Given the description of an element on the screen output the (x, y) to click on. 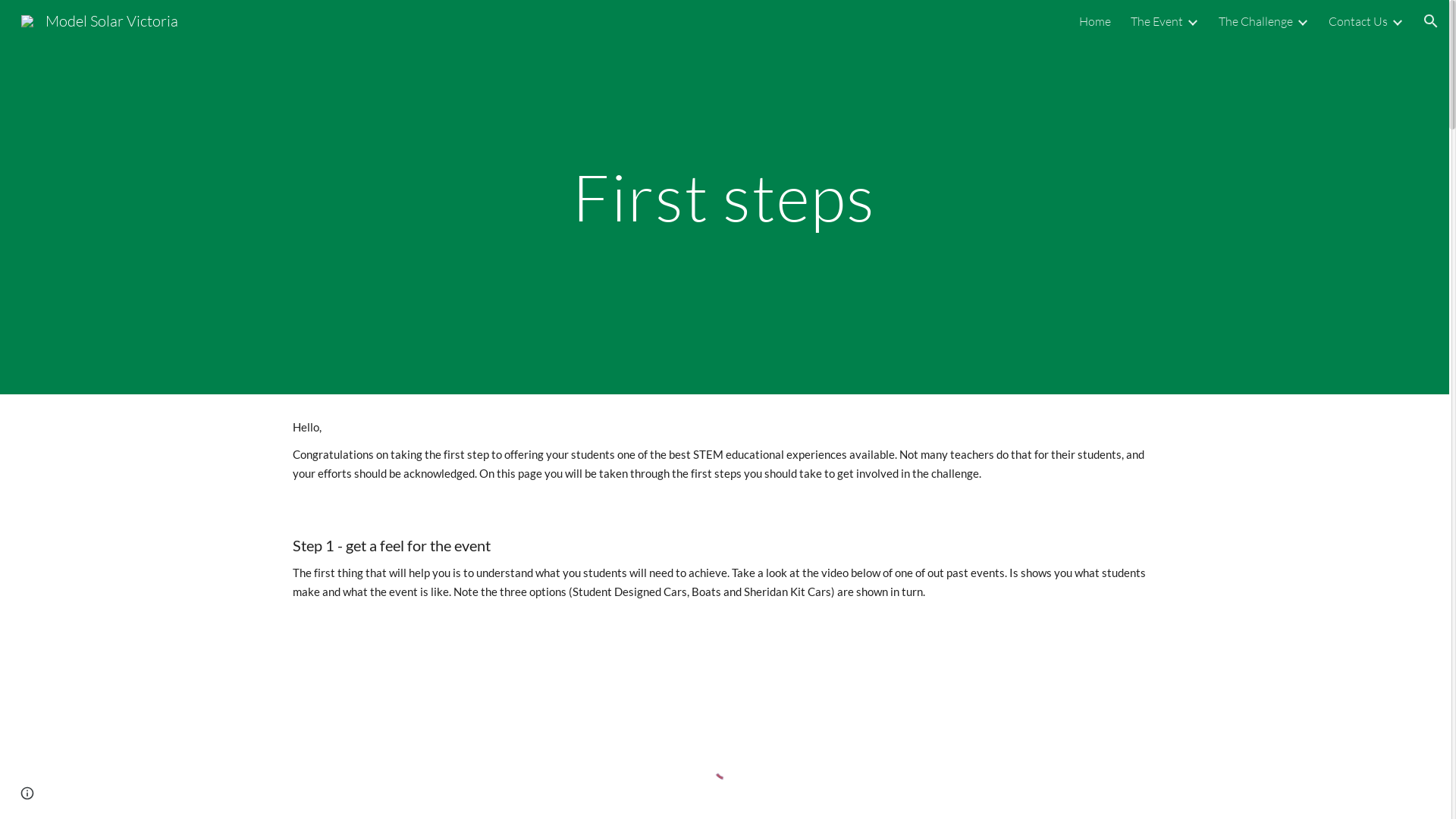
Expand/Collapse Element type: hover (1396, 20)
Contact Us Element type: text (1357, 20)
The Challenge Element type: text (1255, 20)
Expand/Collapse Element type: hover (1191, 20)
Expand/Collapse Element type: hover (1301, 20)
Model Solar Victoria Element type: text (99, 18)
The Event Element type: text (1156, 20)
Home Element type: text (1094, 20)
